Given the description of an element on the screen output the (x, y) to click on. 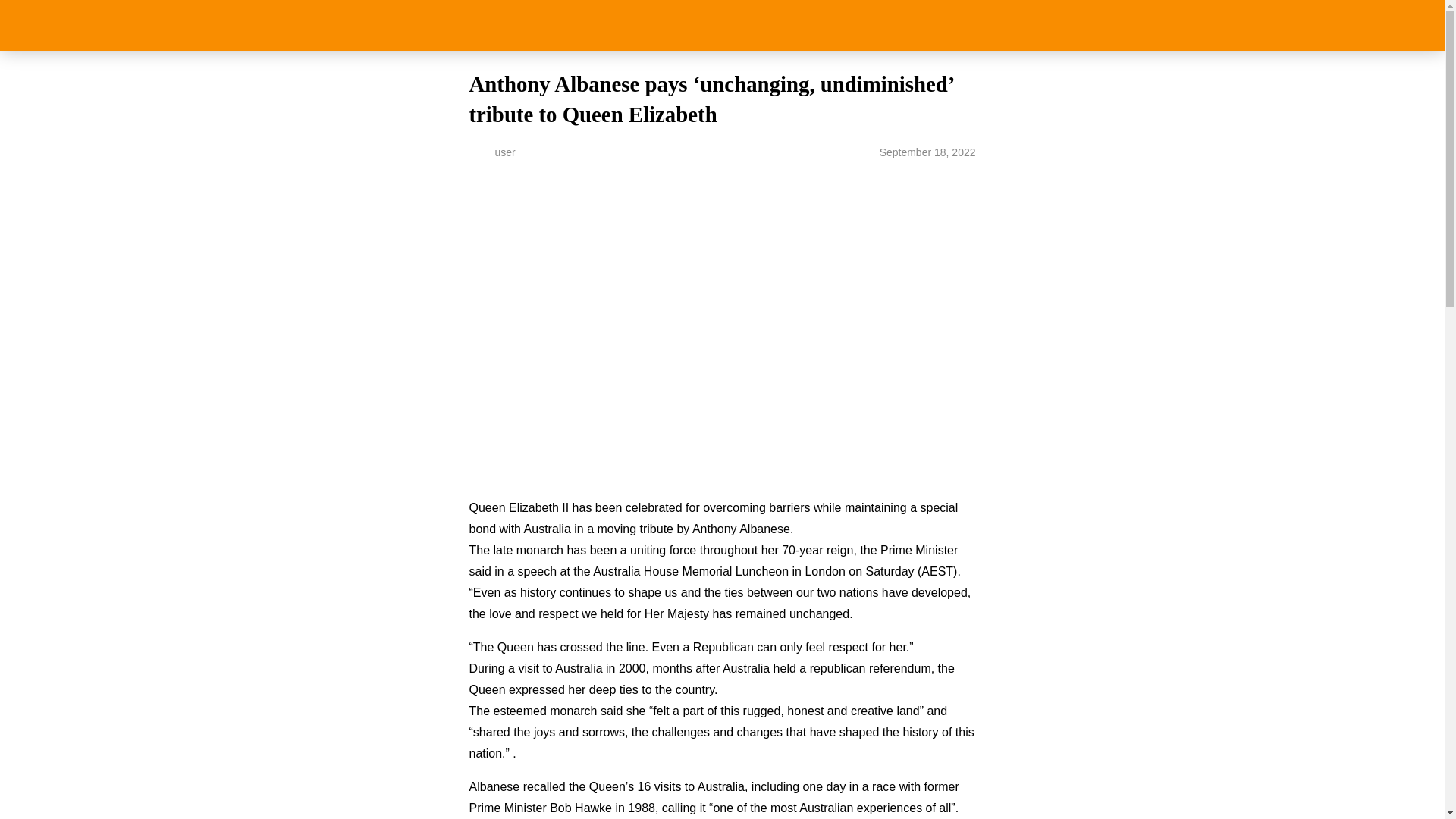
Sydneynewstoday.com (721, 25)
